Given the description of an element on the screen output the (x, y) to click on. 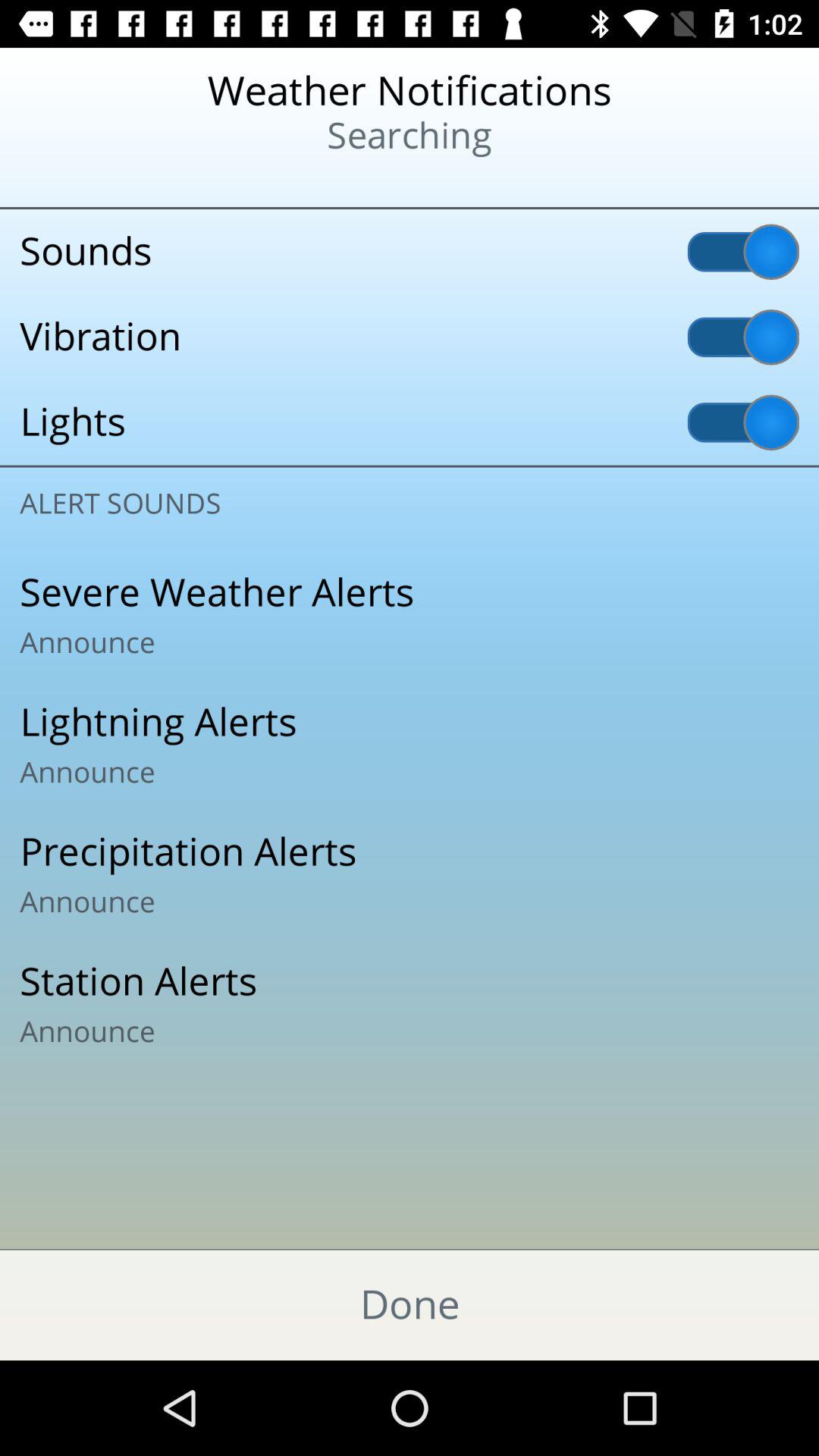
scroll until done icon (409, 1305)
